Given the description of an element on the screen output the (x, y) to click on. 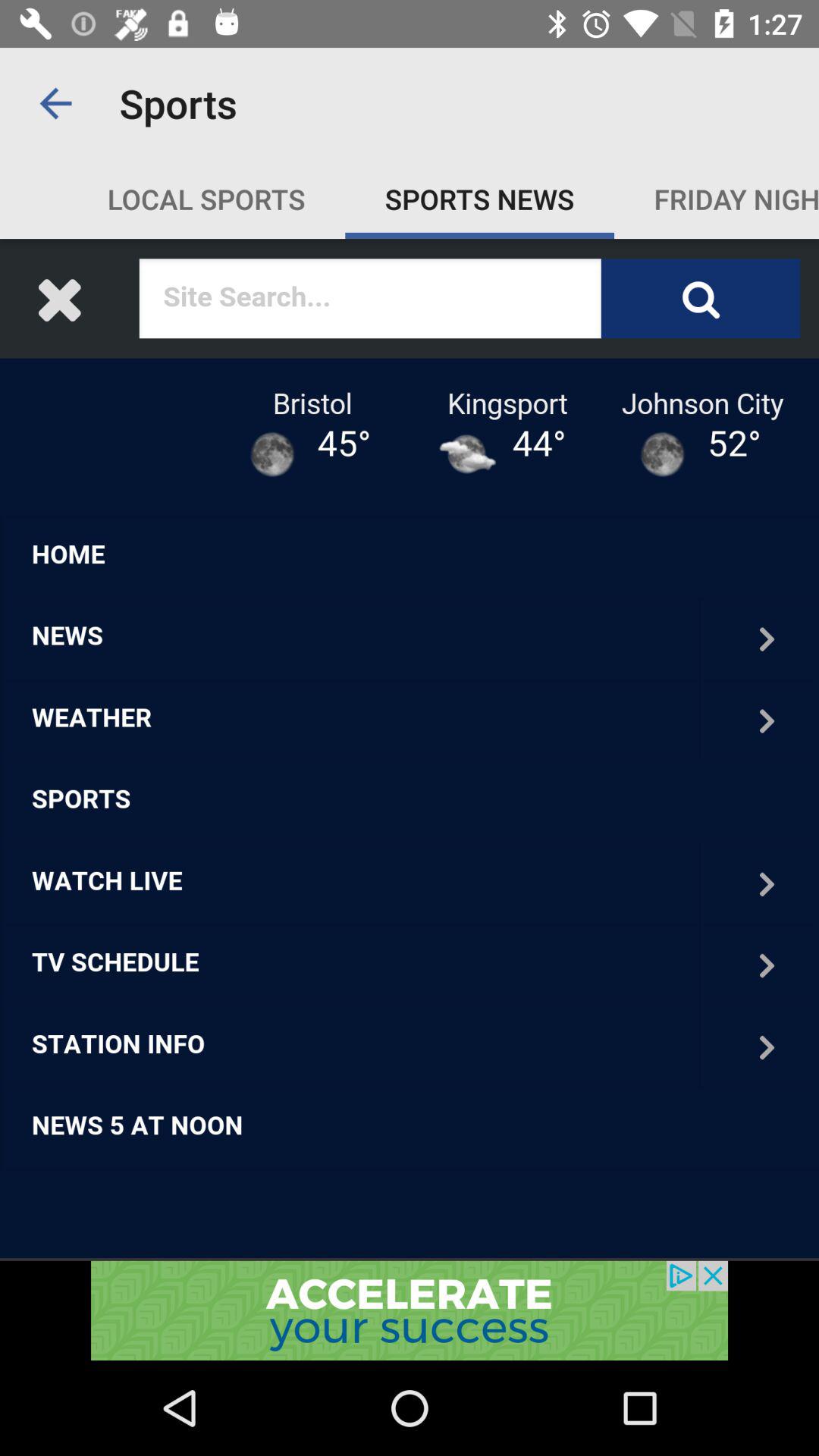
go (409, 1310)
